Given the description of an element on the screen output the (x, y) to click on. 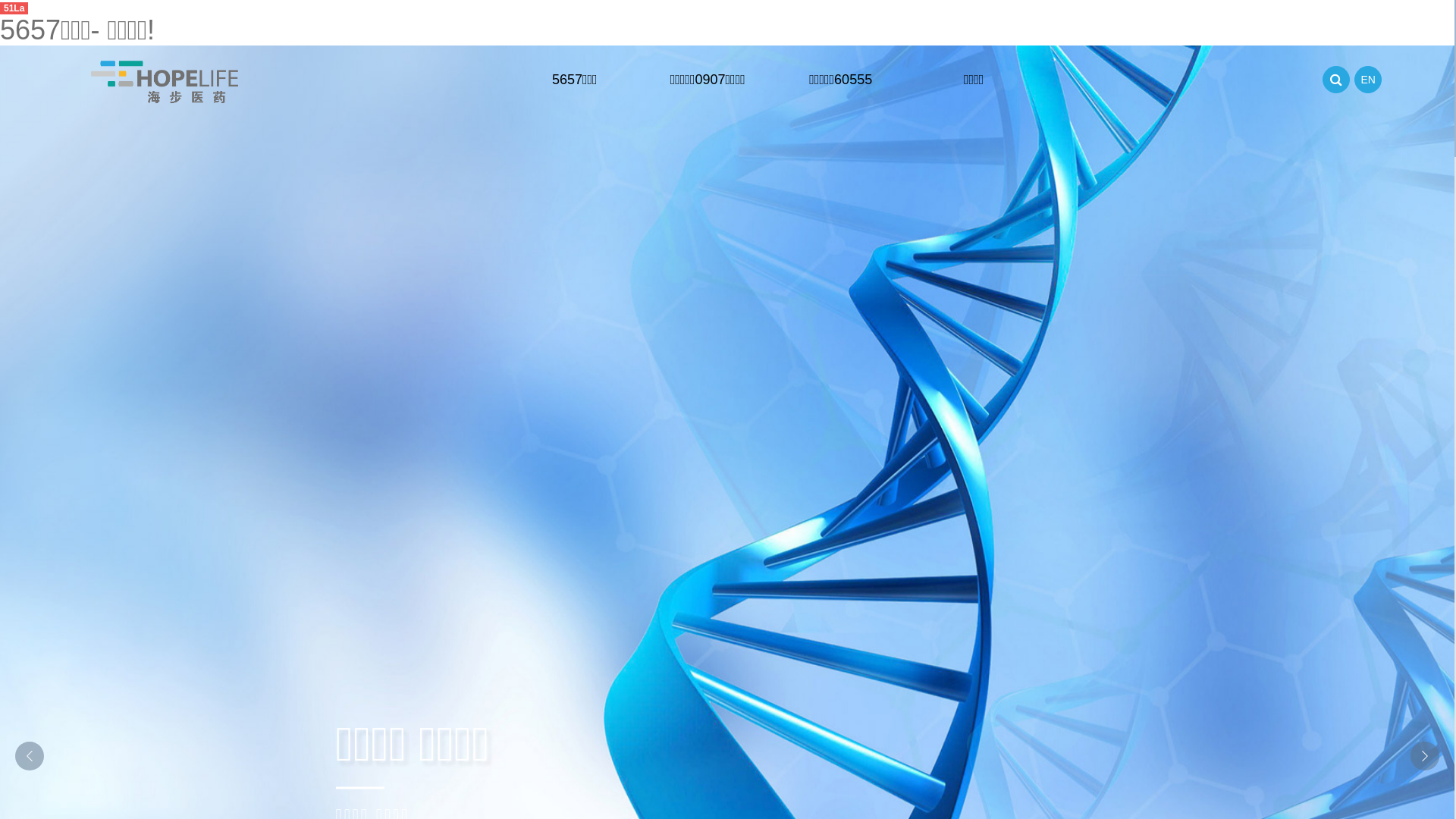
EN Element type: text (1367, 79)
51La Element type: text (14, 7)
